Given the description of an element on the screen output the (x, y) to click on. 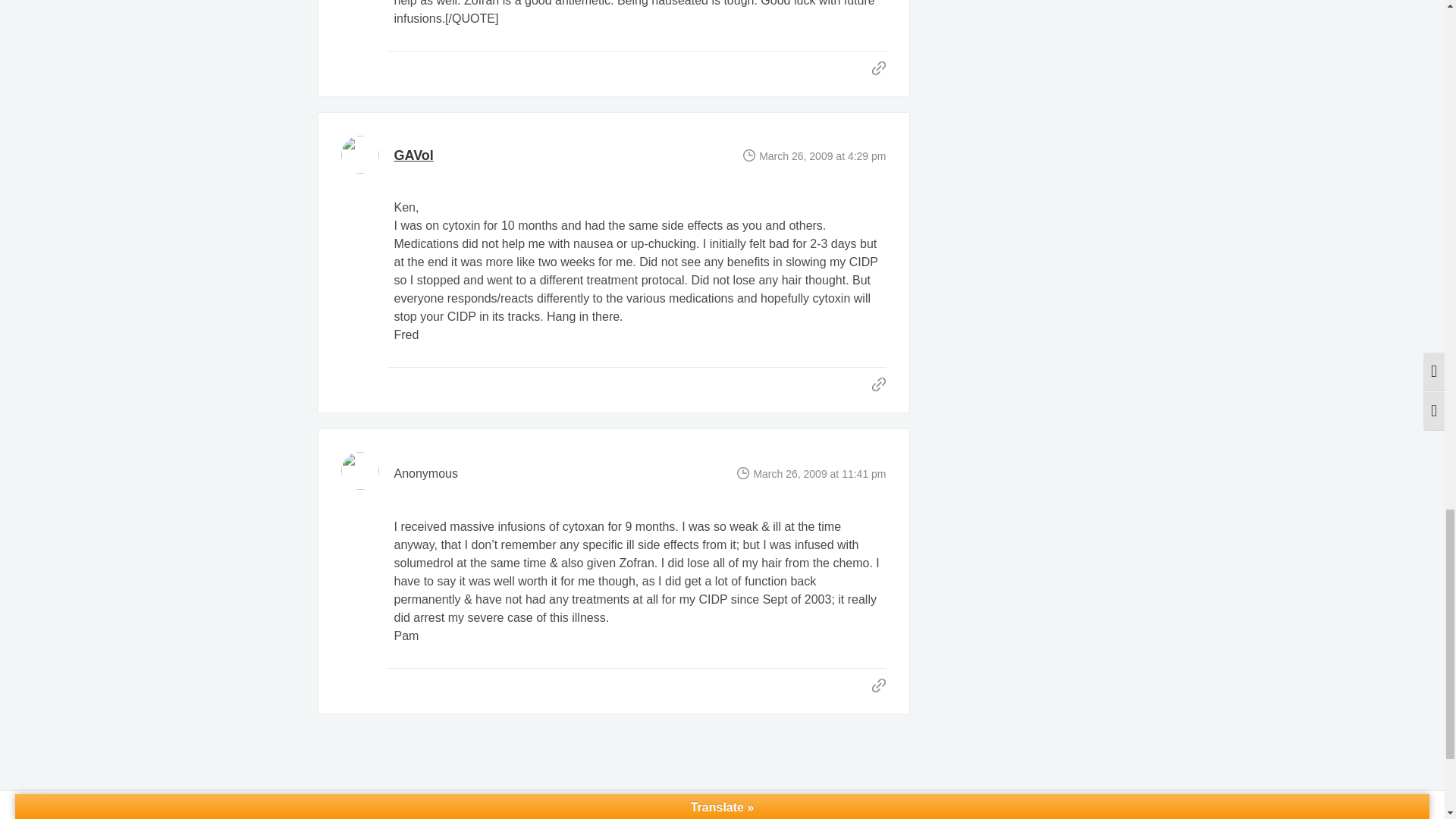
GAVol (413, 155)
